Given the description of an element on the screen output the (x, y) to click on. 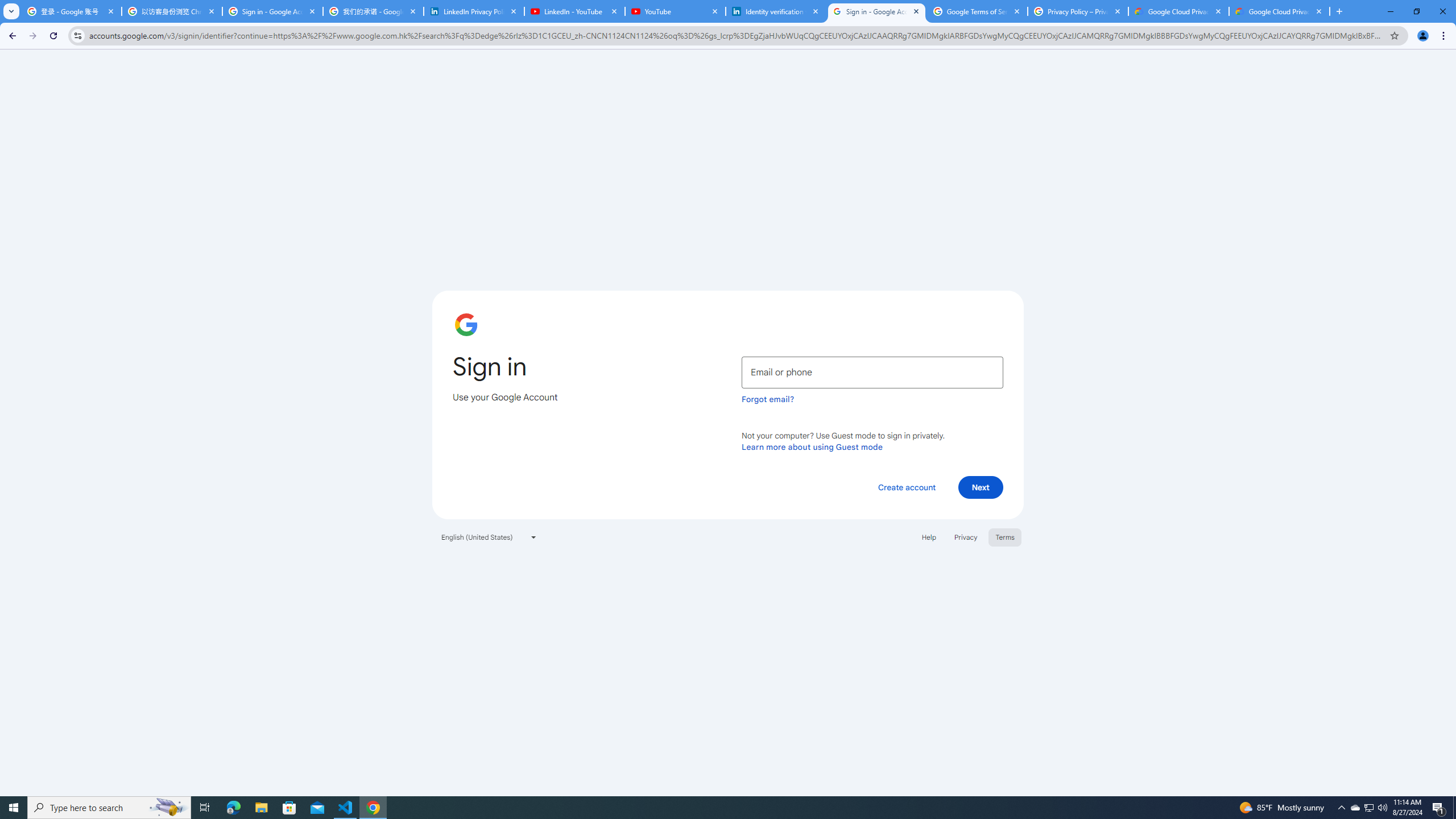
Sign in - Google Accounts (271, 11)
Google Cloud Privacy Notice (1178, 11)
Forgot email? (767, 398)
LinkedIn Privacy Policy (474, 11)
